Given the description of an element on the screen output the (x, y) to click on. 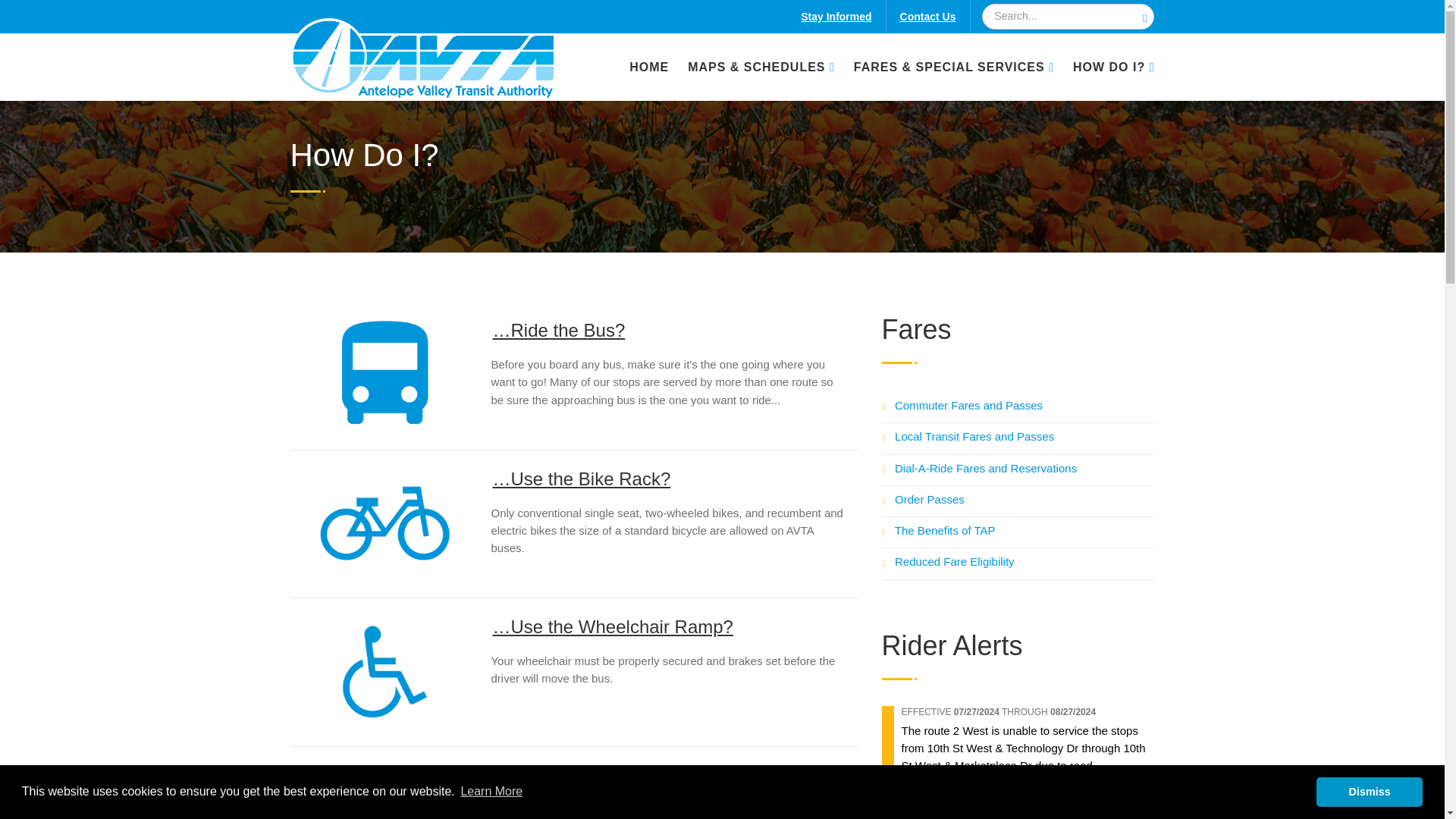
Search Field (1067, 16)
Skip Directly to Page Content (74, 8)
Learn More (489, 794)
Dismiss (1369, 793)
